Given the description of an element on the screen output the (x, y) to click on. 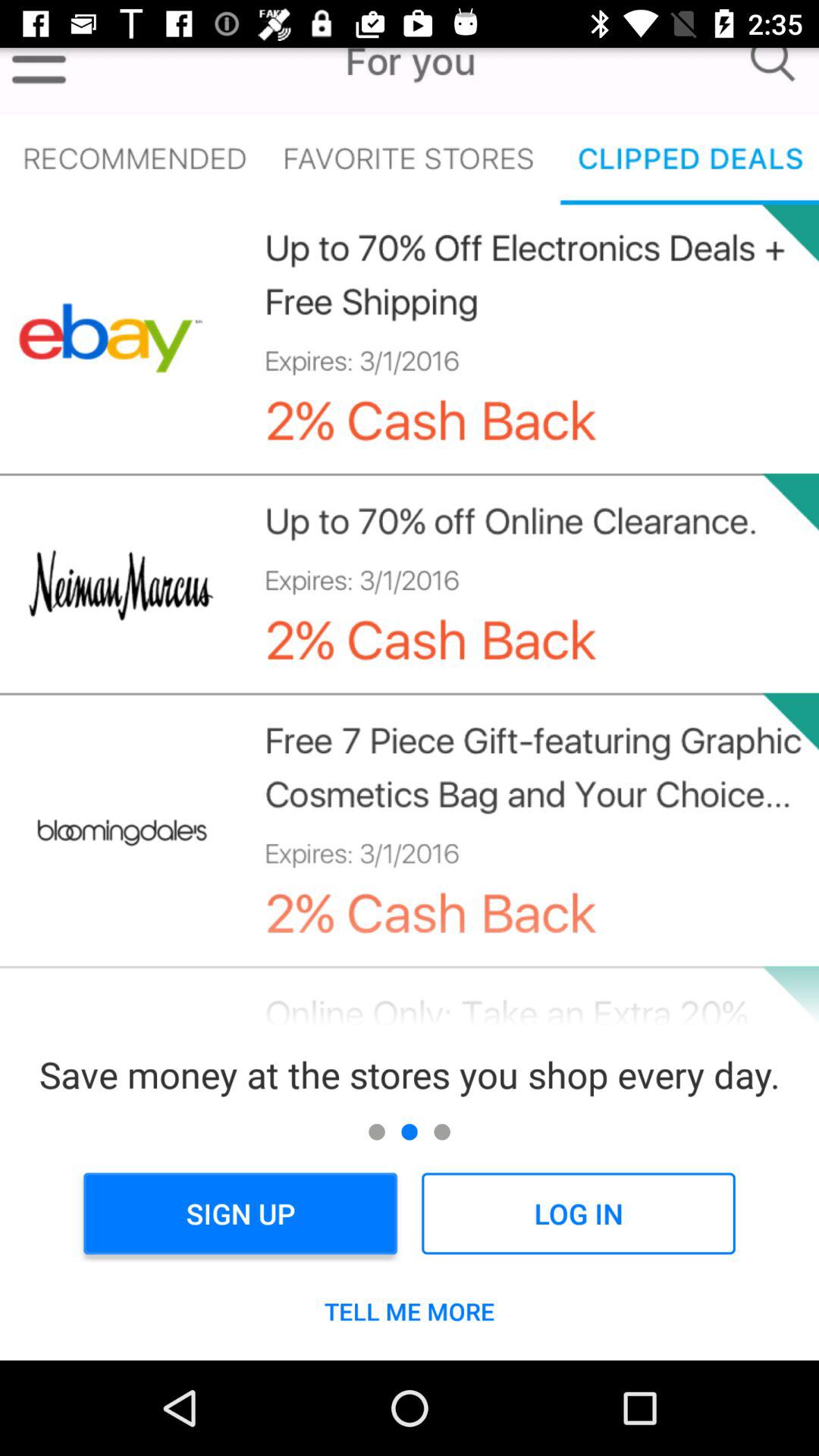
click the item to the left of log in (240, 1213)
